Given the description of an element on the screen output the (x, y) to click on. 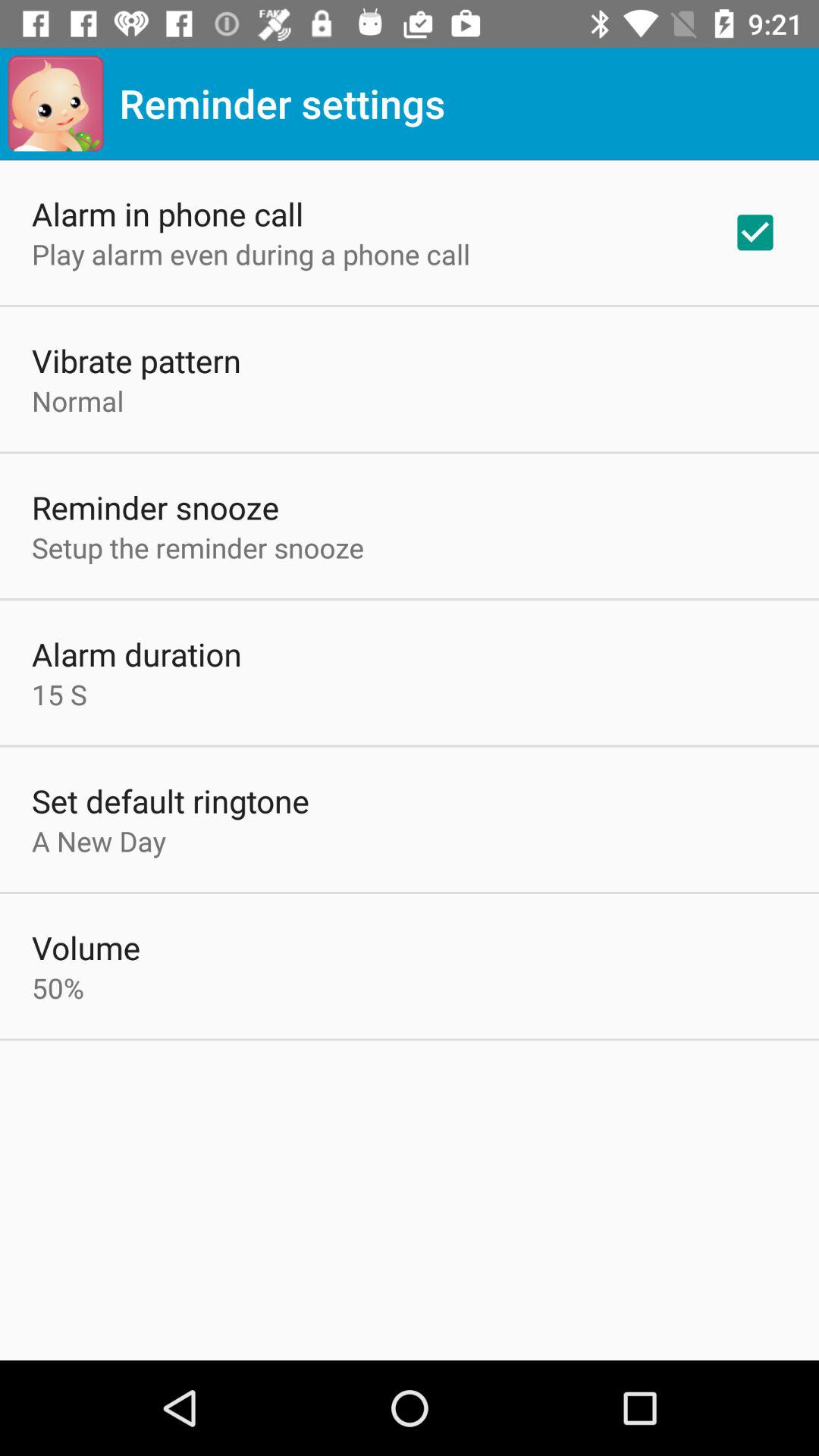
tap the app next to the reminder settings (55, 103)
